Given the description of an element on the screen output the (x, y) to click on. 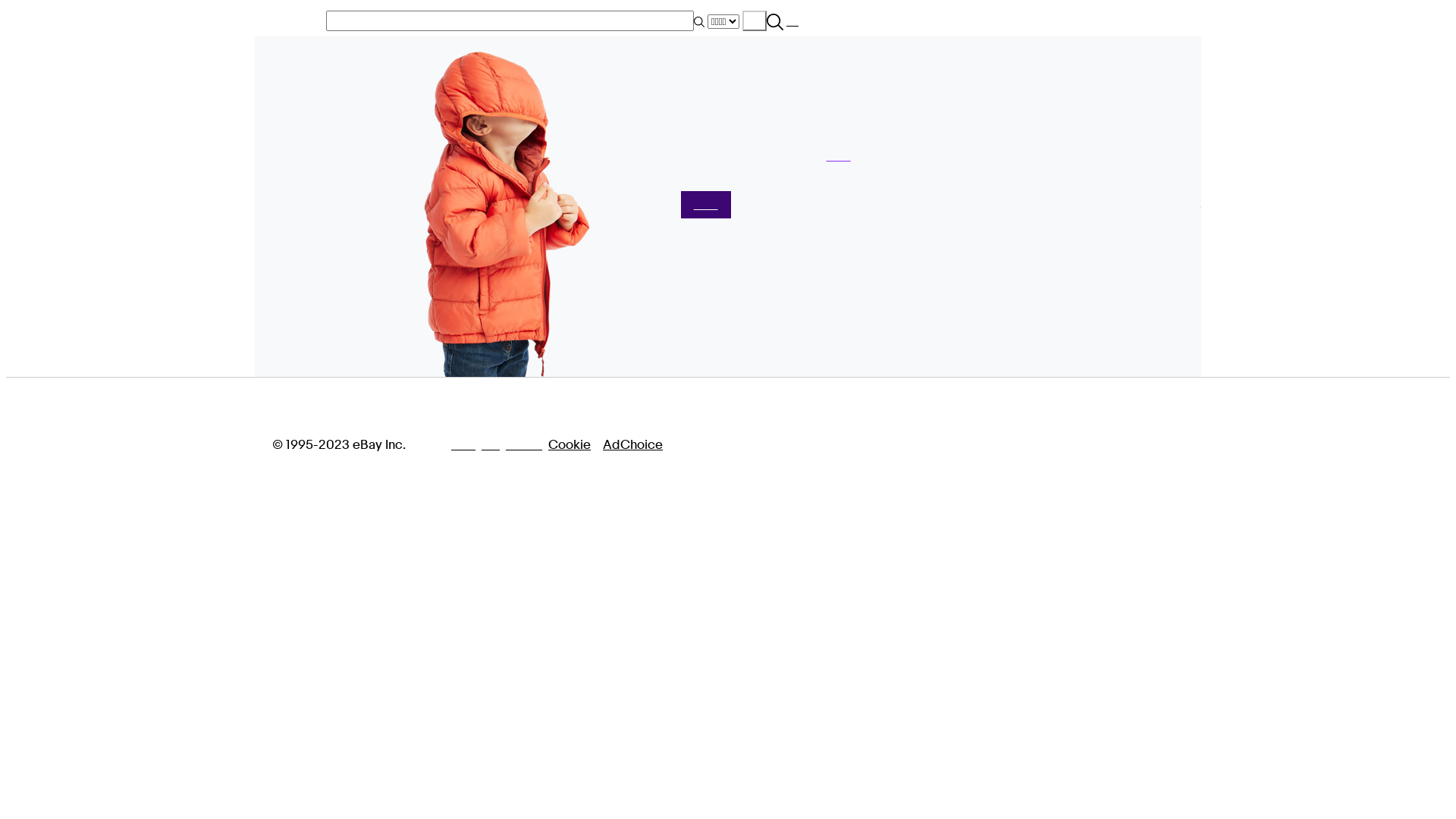
Cookie Element type: text (569, 444)
AdChoice Element type: text (632, 444)
